Given the description of an element on the screen output the (x, y) to click on. 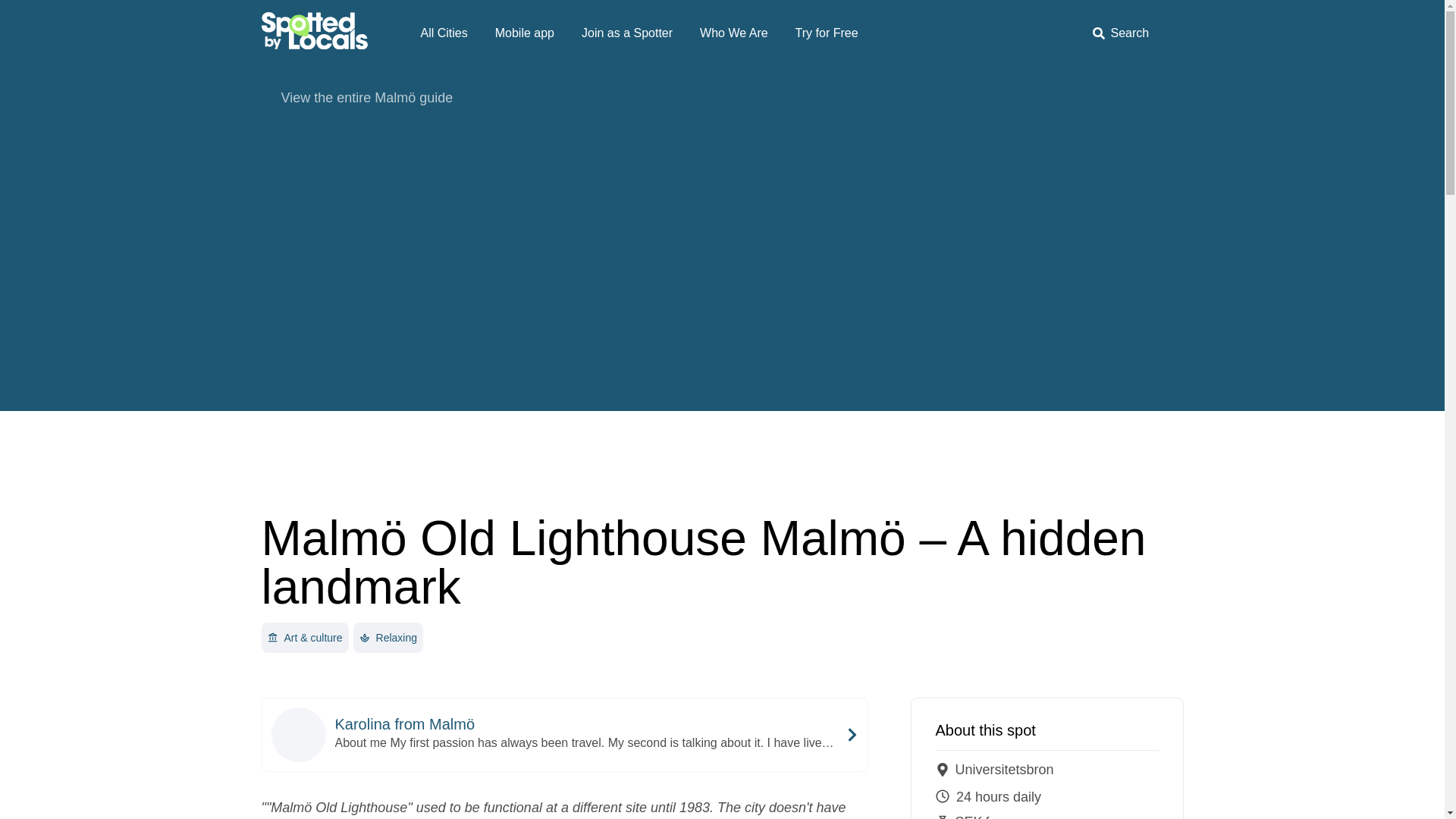
Try for Free (826, 33)
All Cities (443, 33)
Who We Are (734, 33)
Join as a Spotter (626, 33)
Mobile app (524, 33)
